Given the description of an element on the screen output the (x, y) to click on. 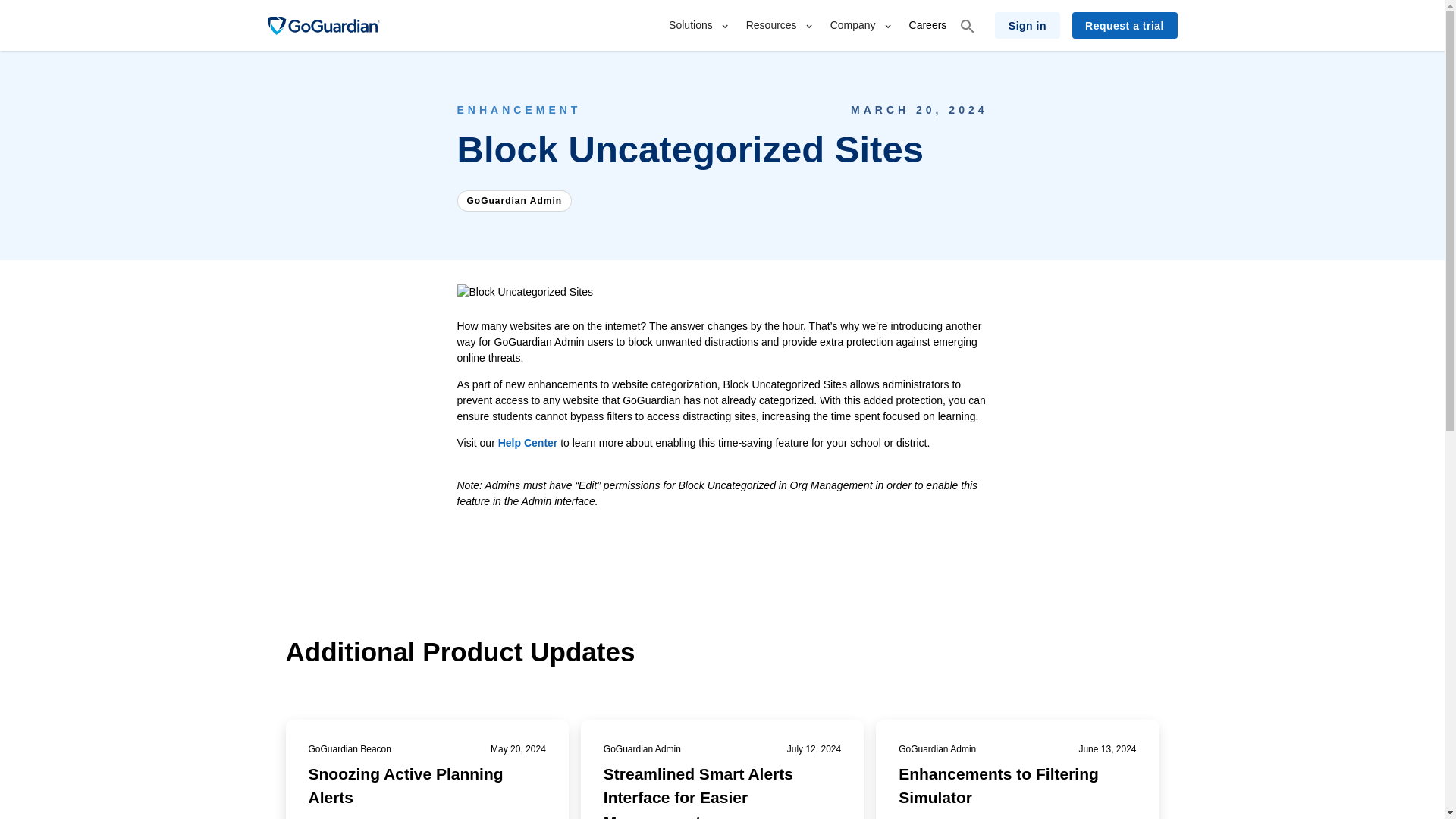
Request a trial (1124, 25)
Sign in (1026, 25)
Help Center (527, 442)
Careers (927, 25)
